Given the description of an element on the screen output the (x, y) to click on. 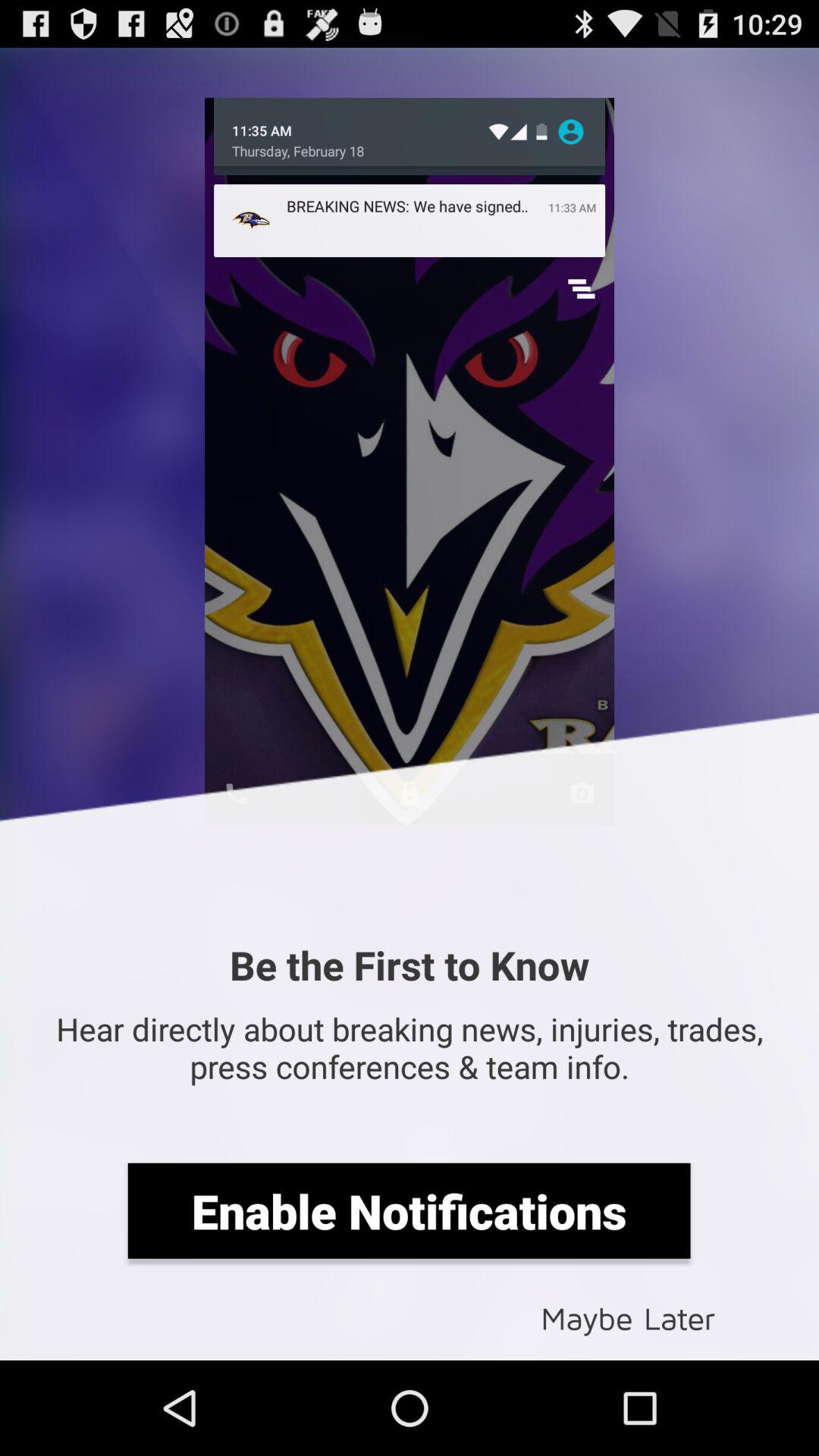
click the enable notifications (408, 1210)
